Given the description of an element on the screen output the (x, y) to click on. 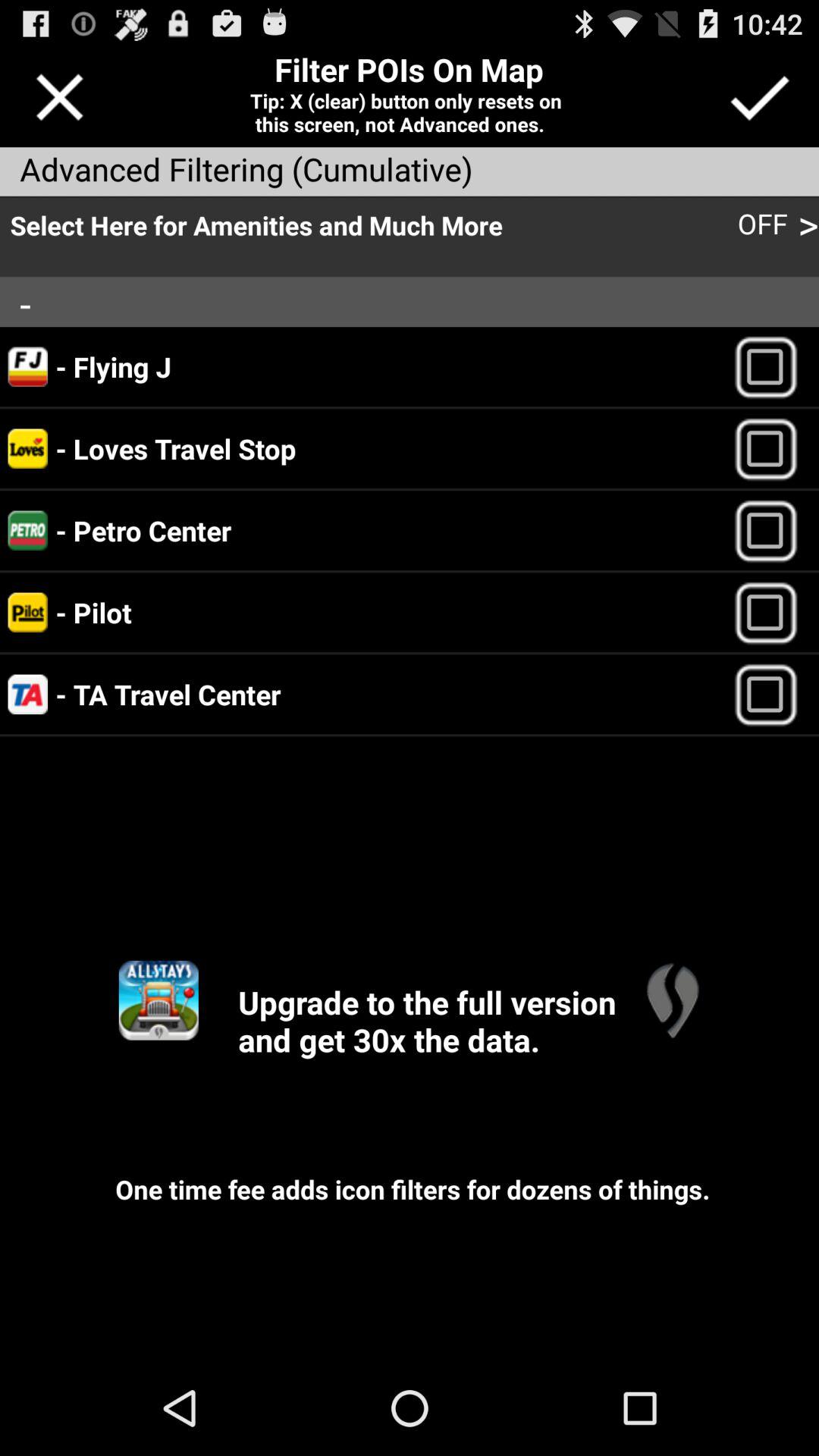
link to upgrade (672, 1000)
